Given the description of an element on the screen output the (x, y) to click on. 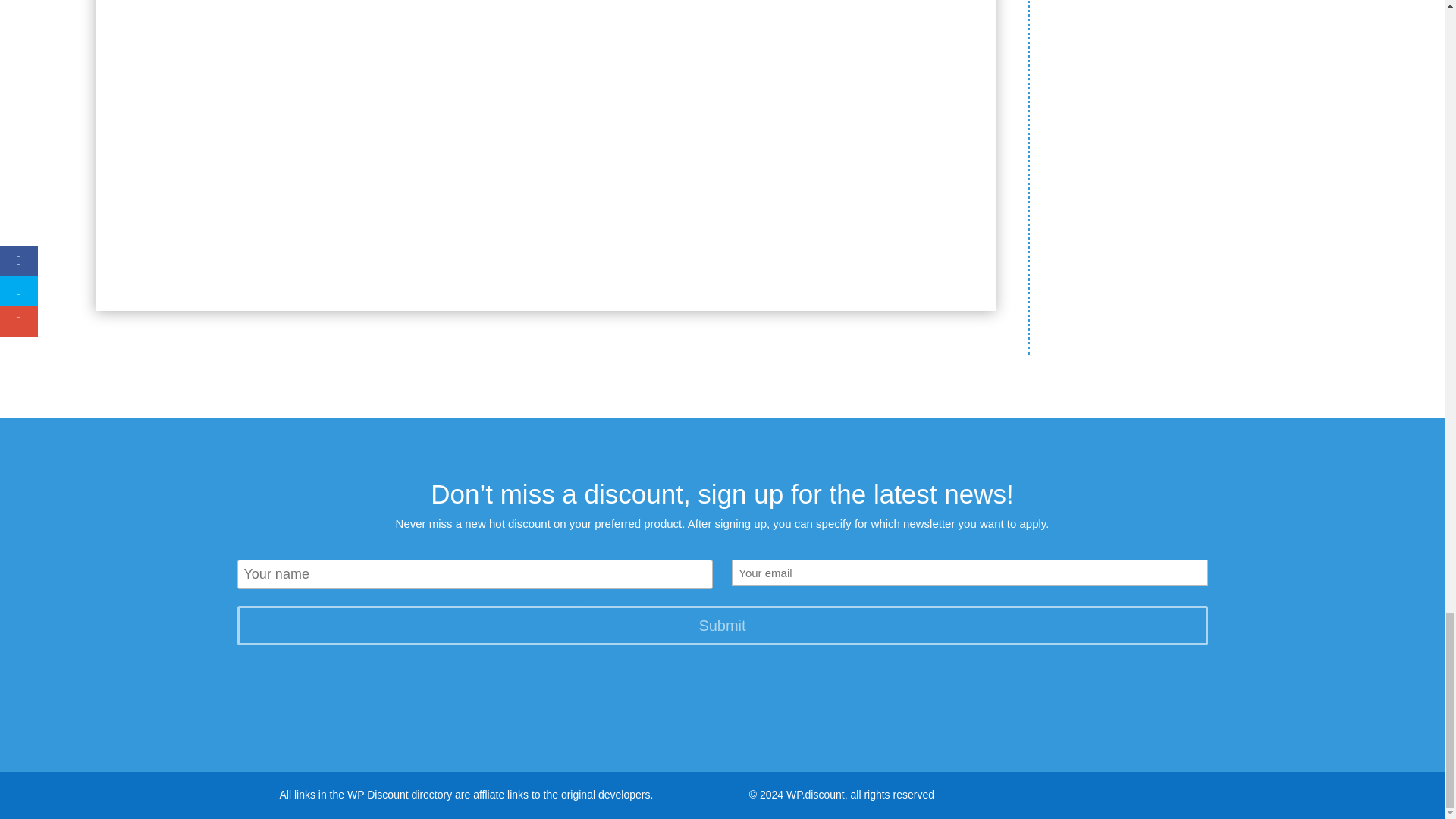
Submit (721, 625)
Submit (721, 625)
